Given the description of an element on the screen output the (x, y) to click on. 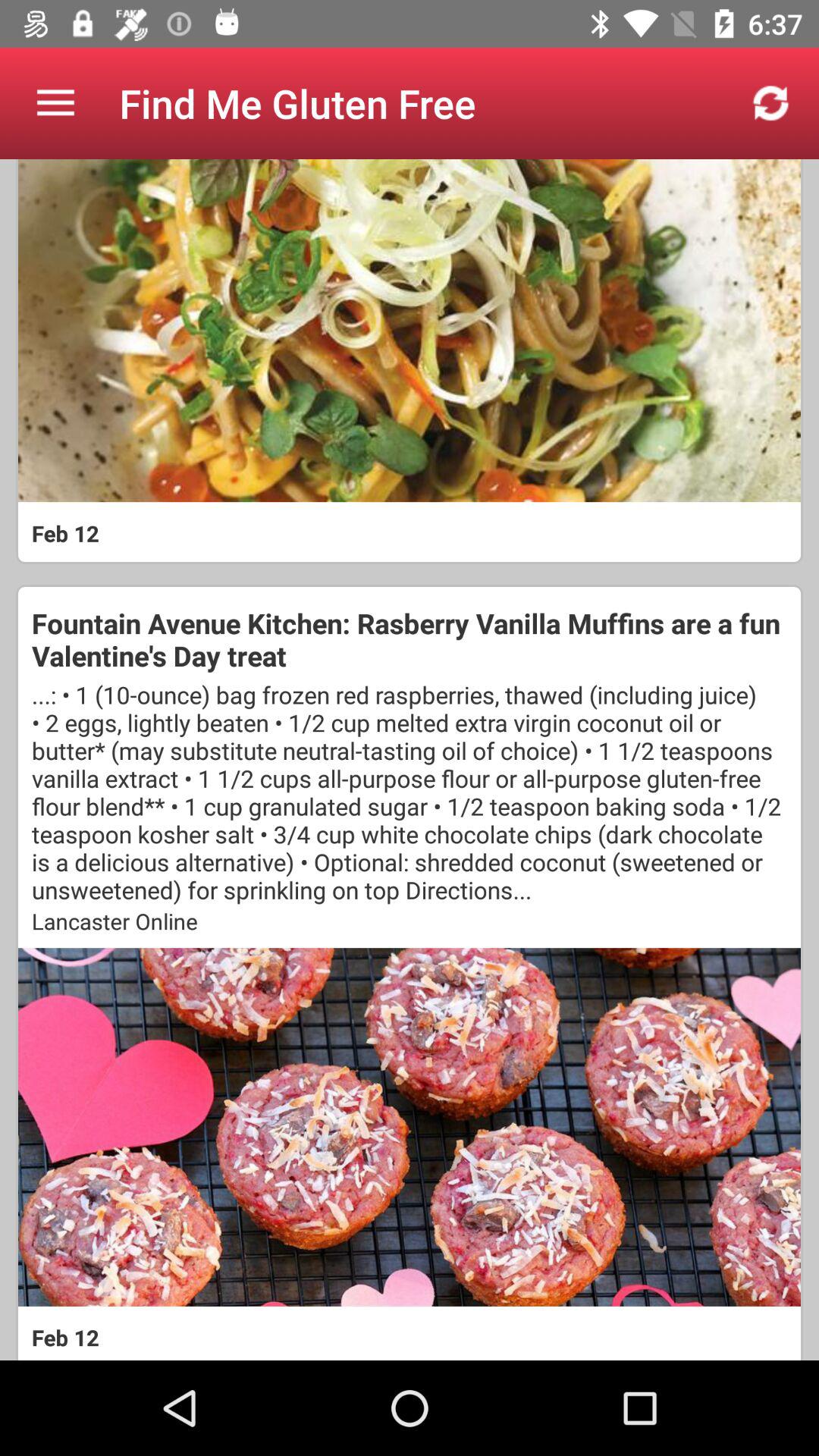
select the item at the top left corner (55, 103)
